Given the description of an element on the screen output the (x, y) to click on. 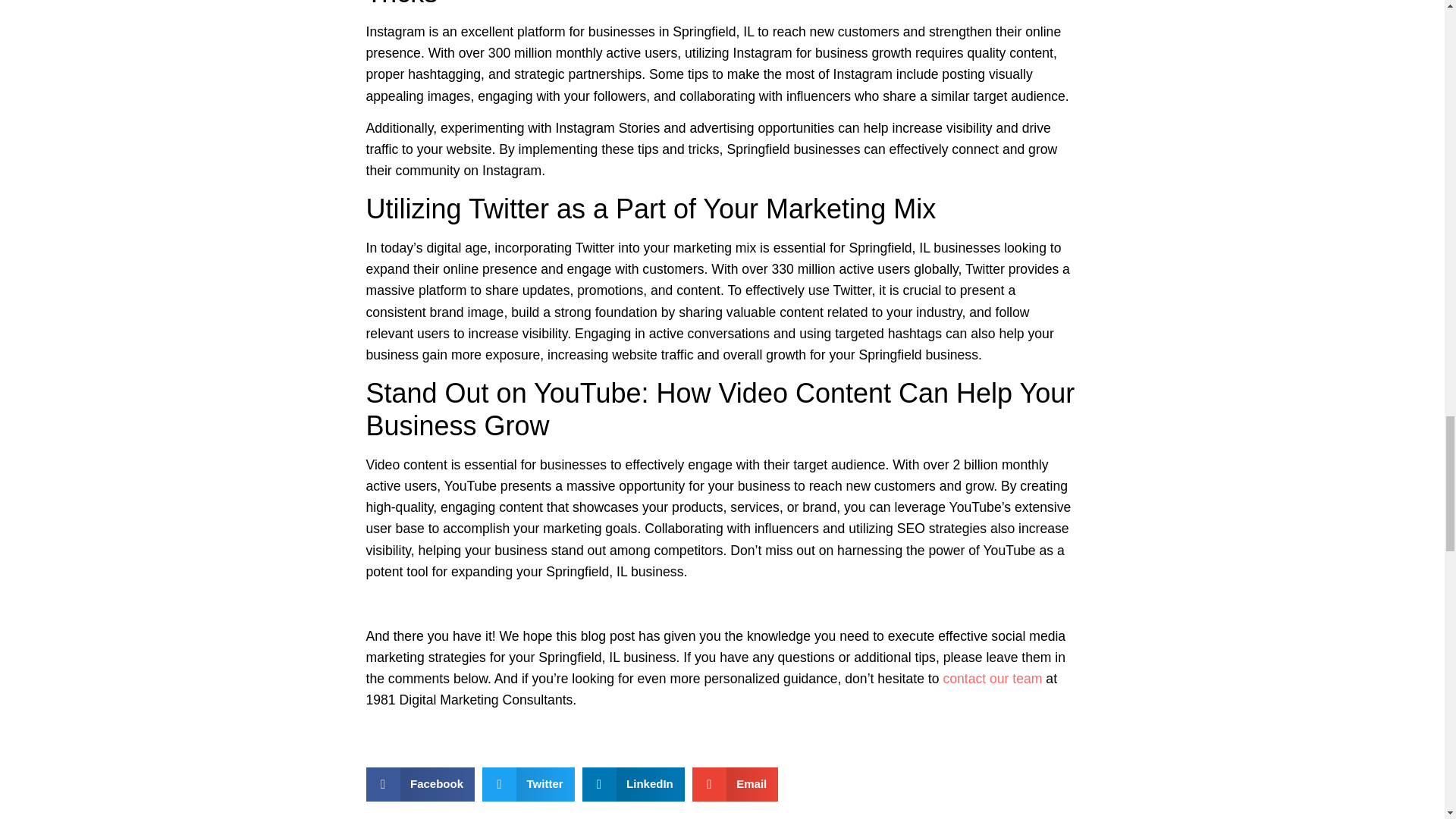
contact our team (992, 678)
